Given the description of an element on the screen output the (x, y) to click on. 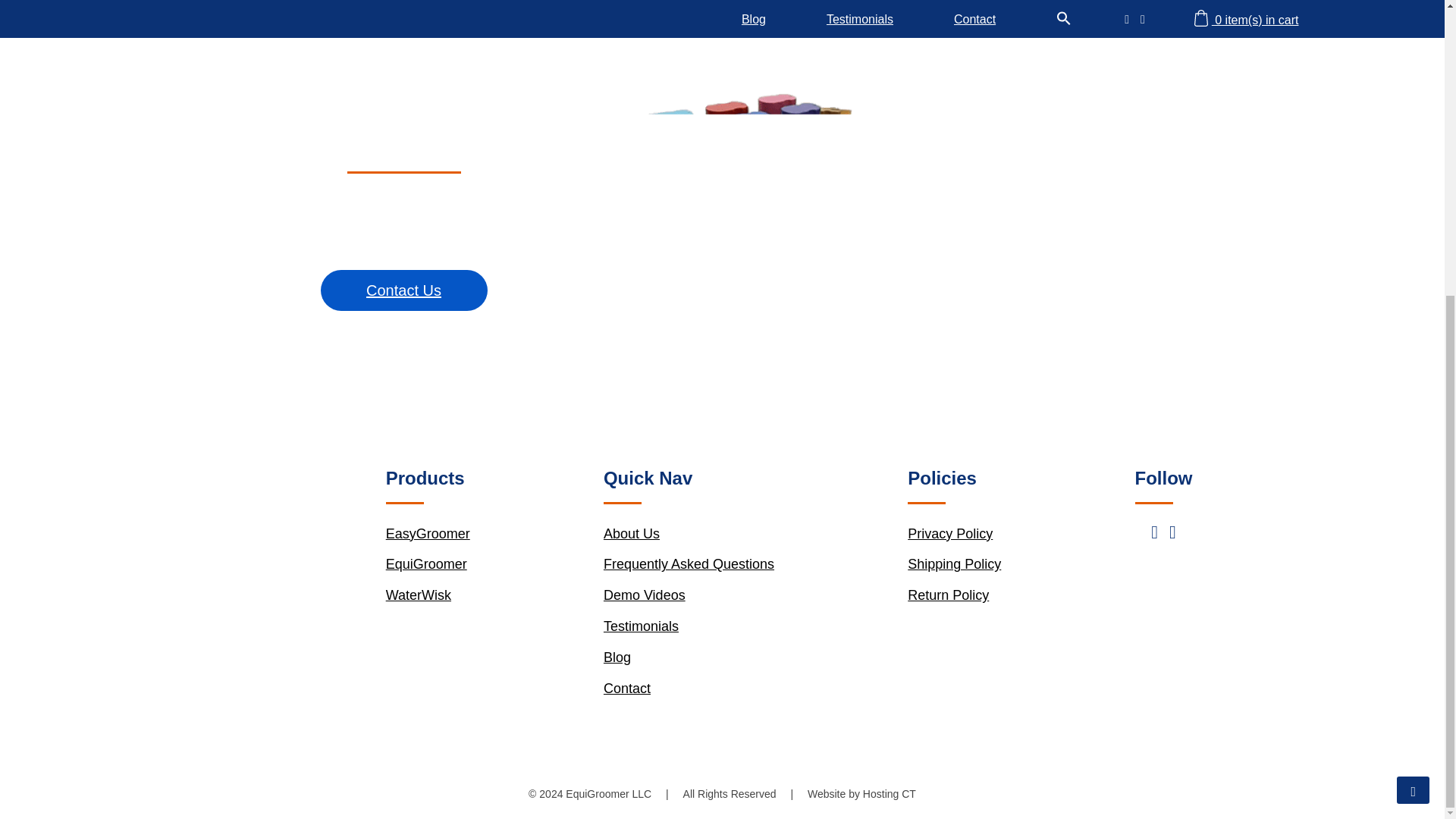
Testimonials (641, 637)
EquiGroomer (426, 575)
EasyGroomer (427, 545)
Return Policy (947, 606)
Contact (627, 699)
Shipping Policy (954, 575)
Back to Homepage (722, 16)
Demo Videos (644, 606)
About Us (631, 545)
Contact Us (403, 290)
